Given the description of an element on the screen output the (x, y) to click on. 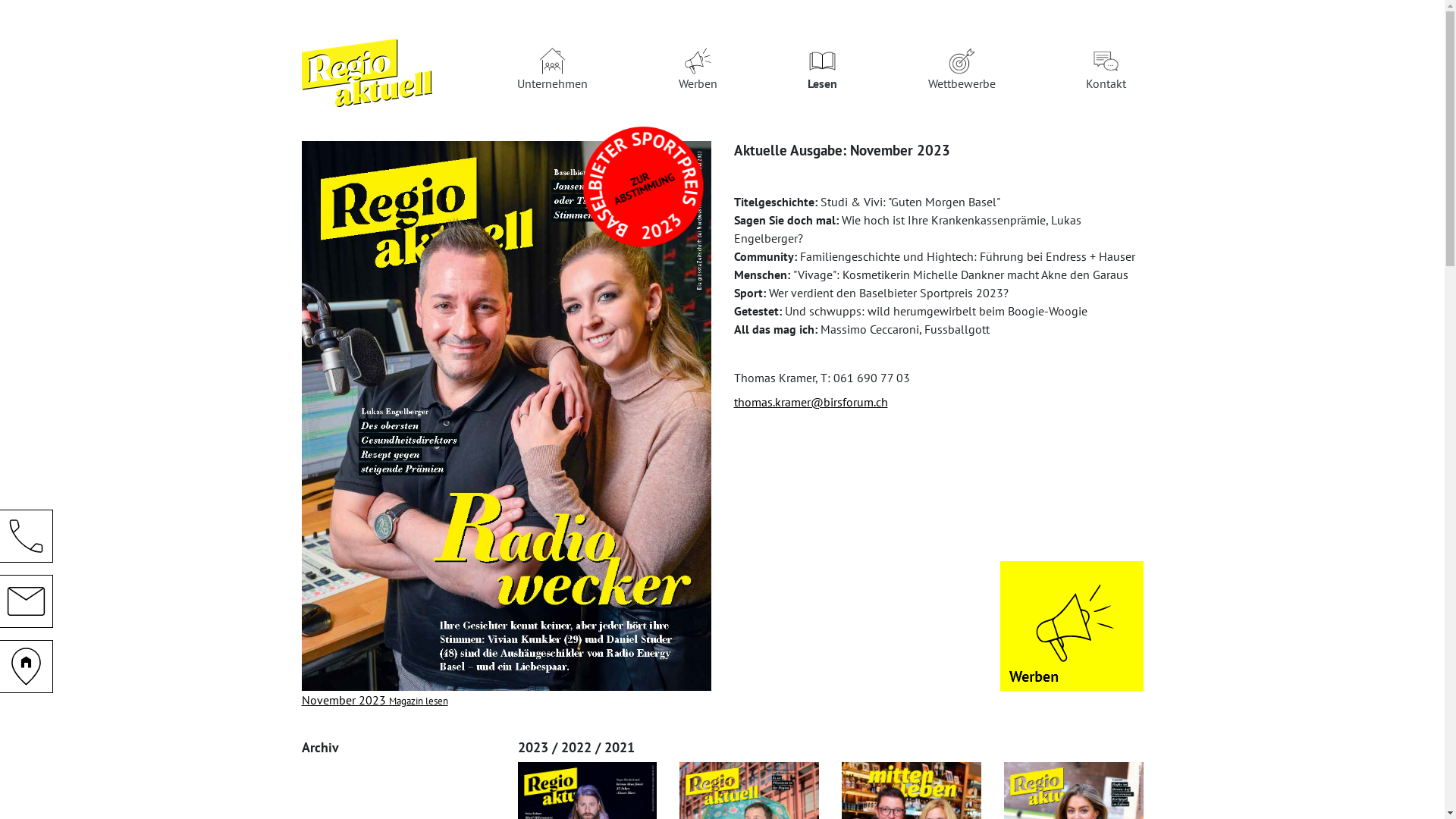
Wettbewerbe Element type: text (961, 72)
Unternehmen Element type: text (552, 72)
Lesen Element type: text (822, 72)
thomas.kramer@birsforum.ch Element type: text (811, 401)
Kontakt Element type: text (1105, 72)
Werben Element type: text (697, 72)
November 2023 Magazin lesen Element type: text (506, 558)
